Given the description of an element on the screen output the (x, y) to click on. 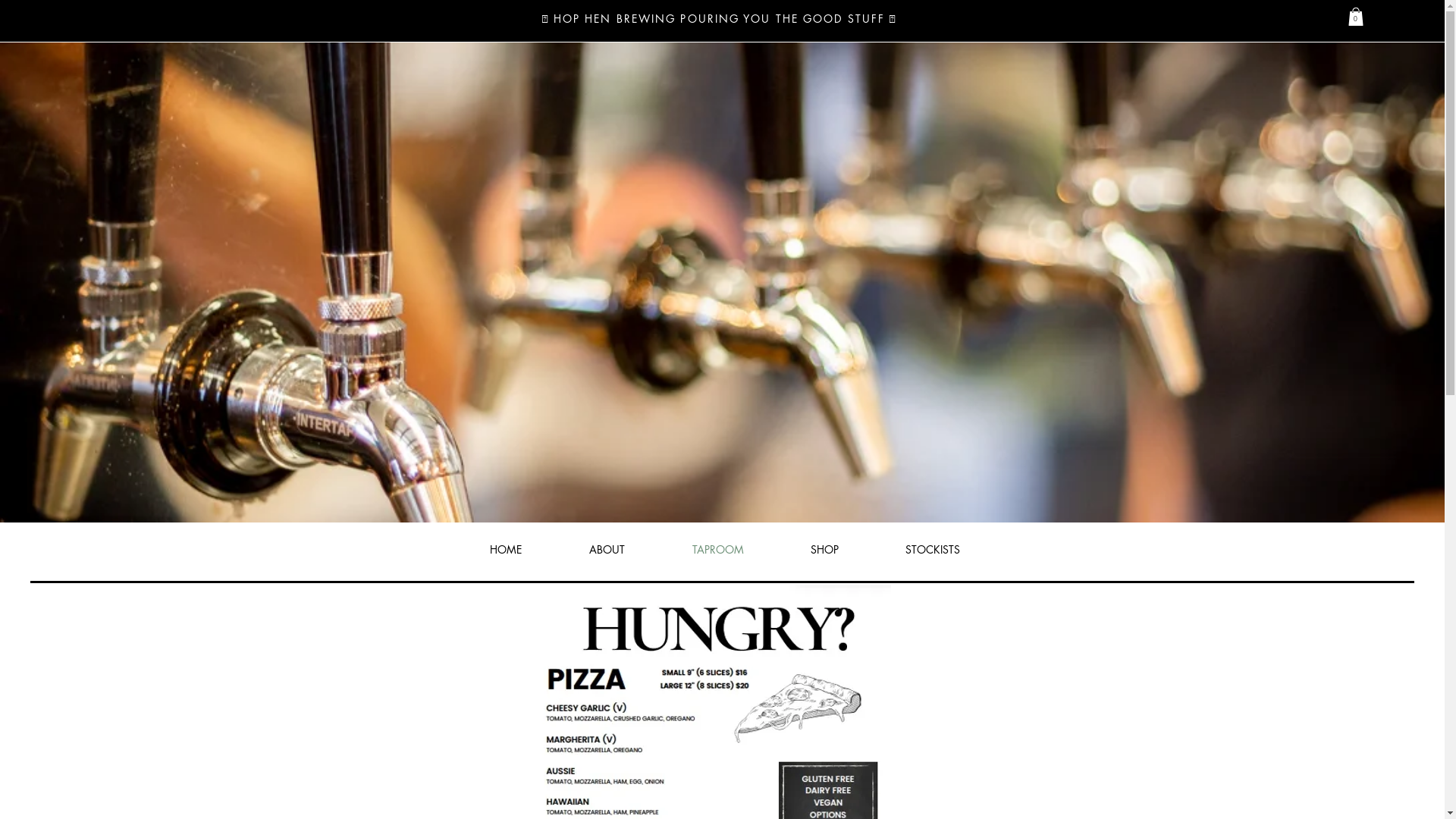
STOCKISTS Element type: text (932, 549)
SHOP Element type: text (823, 549)
TAPROOM Element type: text (717, 549)
0 Element type: text (1355, 16)
HOME Element type: text (505, 549)
ABOUT Element type: text (606, 549)
